Given the description of an element on the screen output the (x, y) to click on. 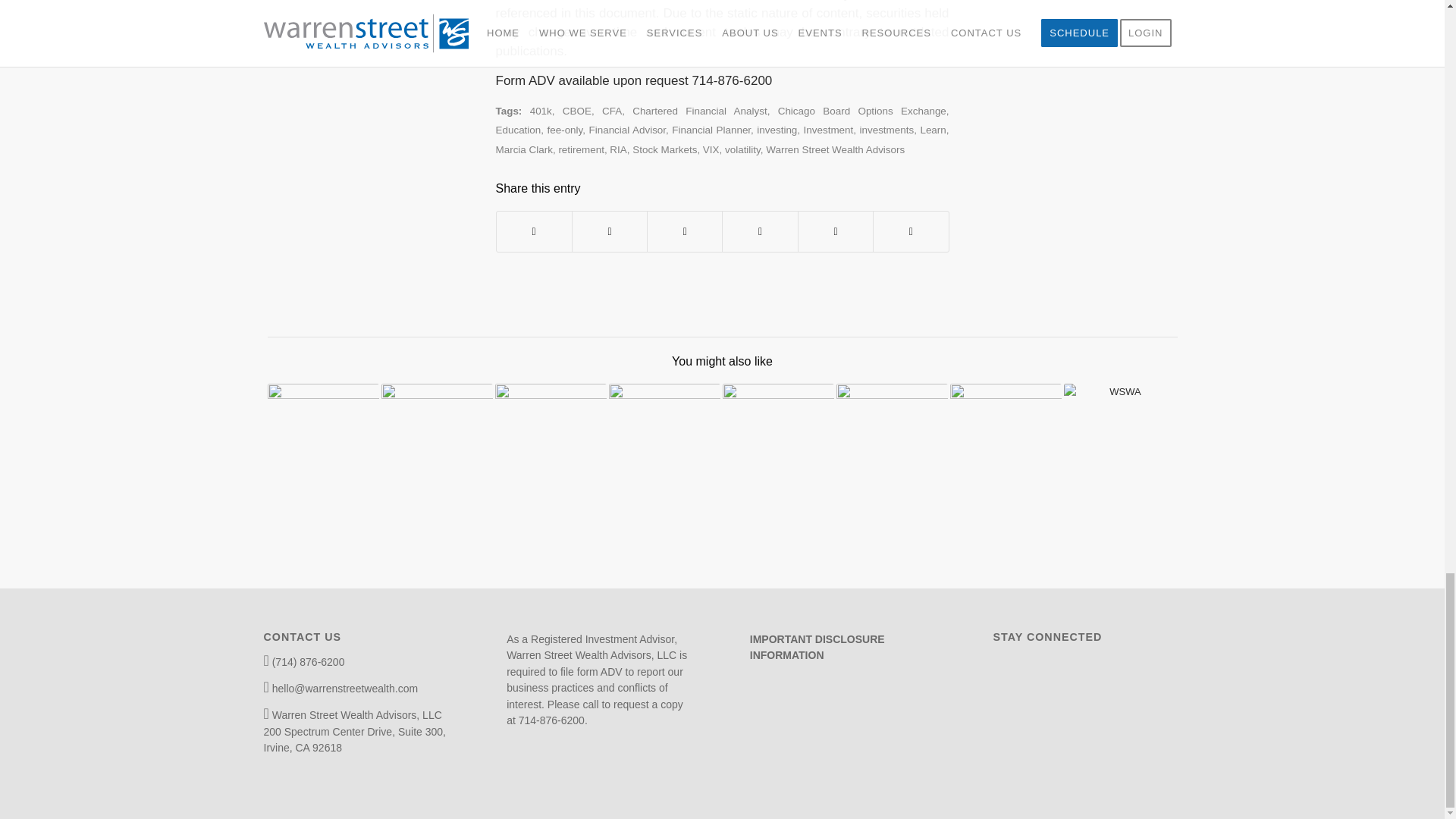
401k (540, 111)
Chicago Board Options Exchange (861, 111)
Chartered Financial Analyst (699, 111)
CBOE (576, 111)
Financial Planner (711, 129)
CFA (611, 111)
Investment (828, 129)
Financial Advisor (626, 129)
investing (776, 129)
Meet the Team: Veronica Cabral (322, 439)
fee-only (564, 129)
Education (518, 129)
